Given the description of an element on the screen output the (x, y) to click on. 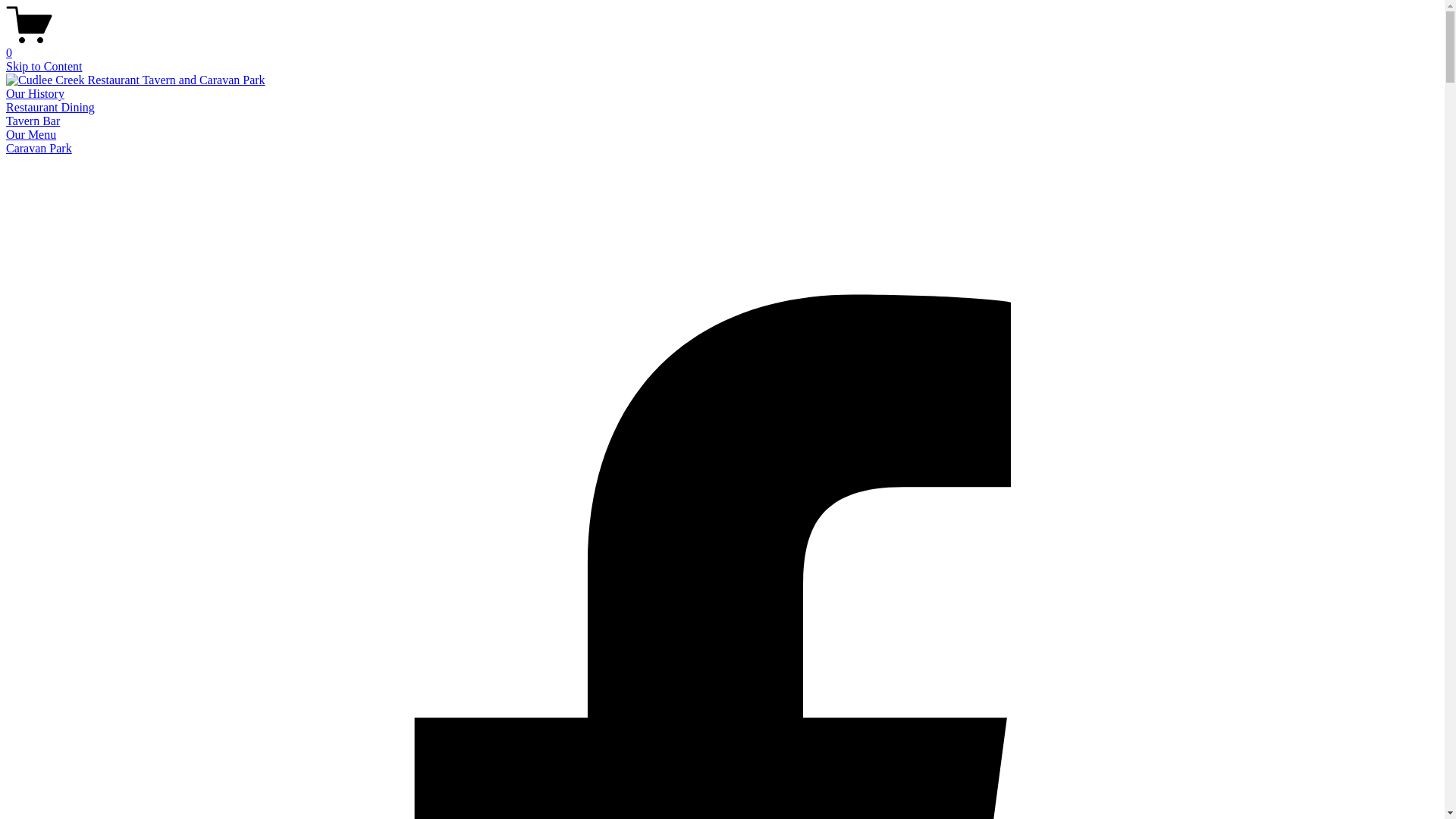
Our Menu Element type: text (31, 134)
0 Element type: text (722, 45)
Our History Element type: text (35, 93)
Tavern Bar Element type: text (32, 120)
Skip to Content Element type: text (43, 65)
Restaurant Dining Element type: text (50, 106)
Caravan Park Element type: text (39, 147)
